Given the description of an element on the screen output the (x, y) to click on. 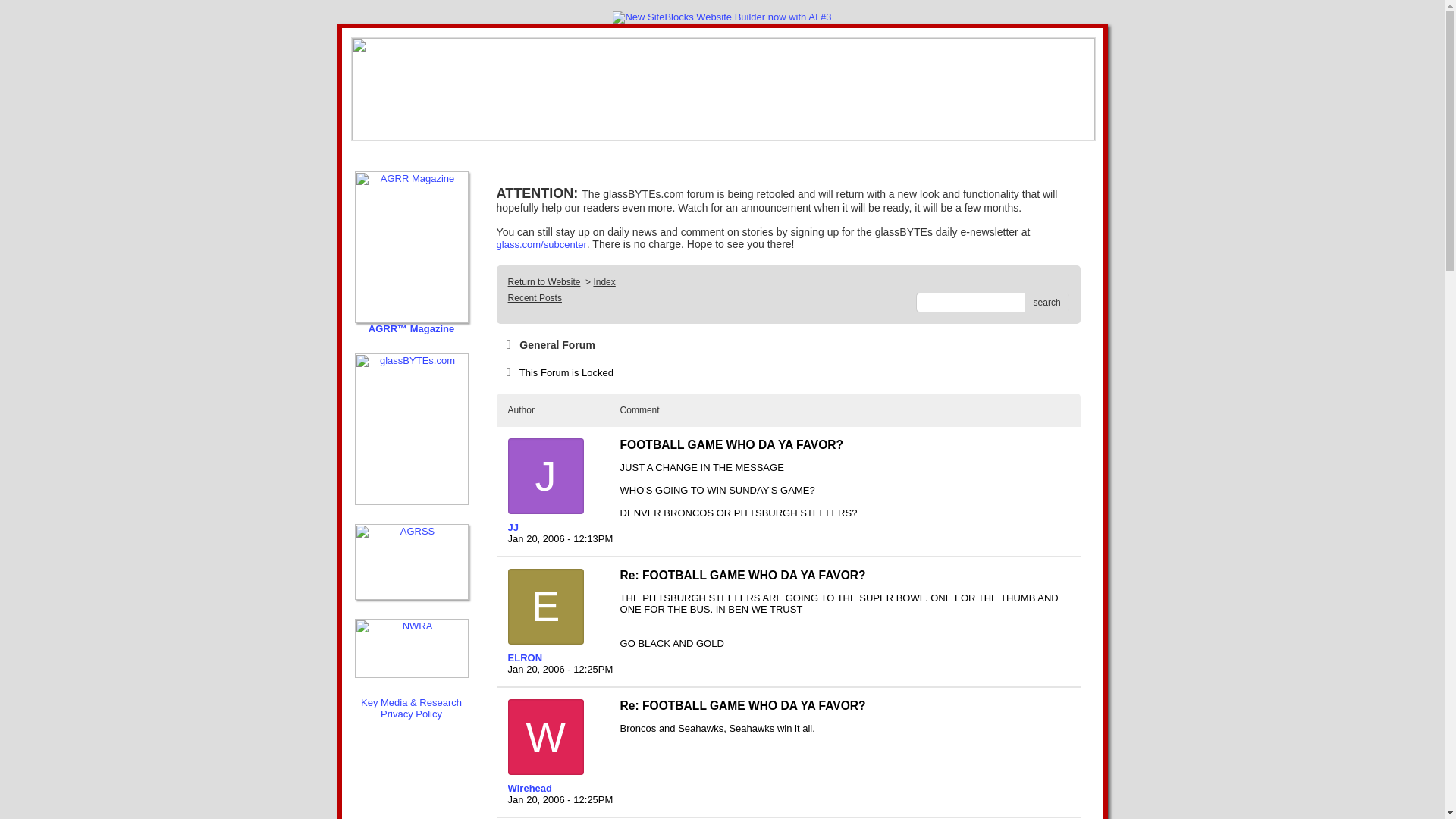
JJ (557, 527)
Messages from this User (513, 527)
Wirehead (557, 787)
Messages from this User (525, 657)
search (1046, 302)
Index (603, 281)
Return to Website (544, 281)
ELRON (557, 657)
Recent Posts (535, 297)
Messages from this User (529, 787)
Posting is Disabled (556, 372)
